Given the description of an element on the screen output the (x, y) to click on. 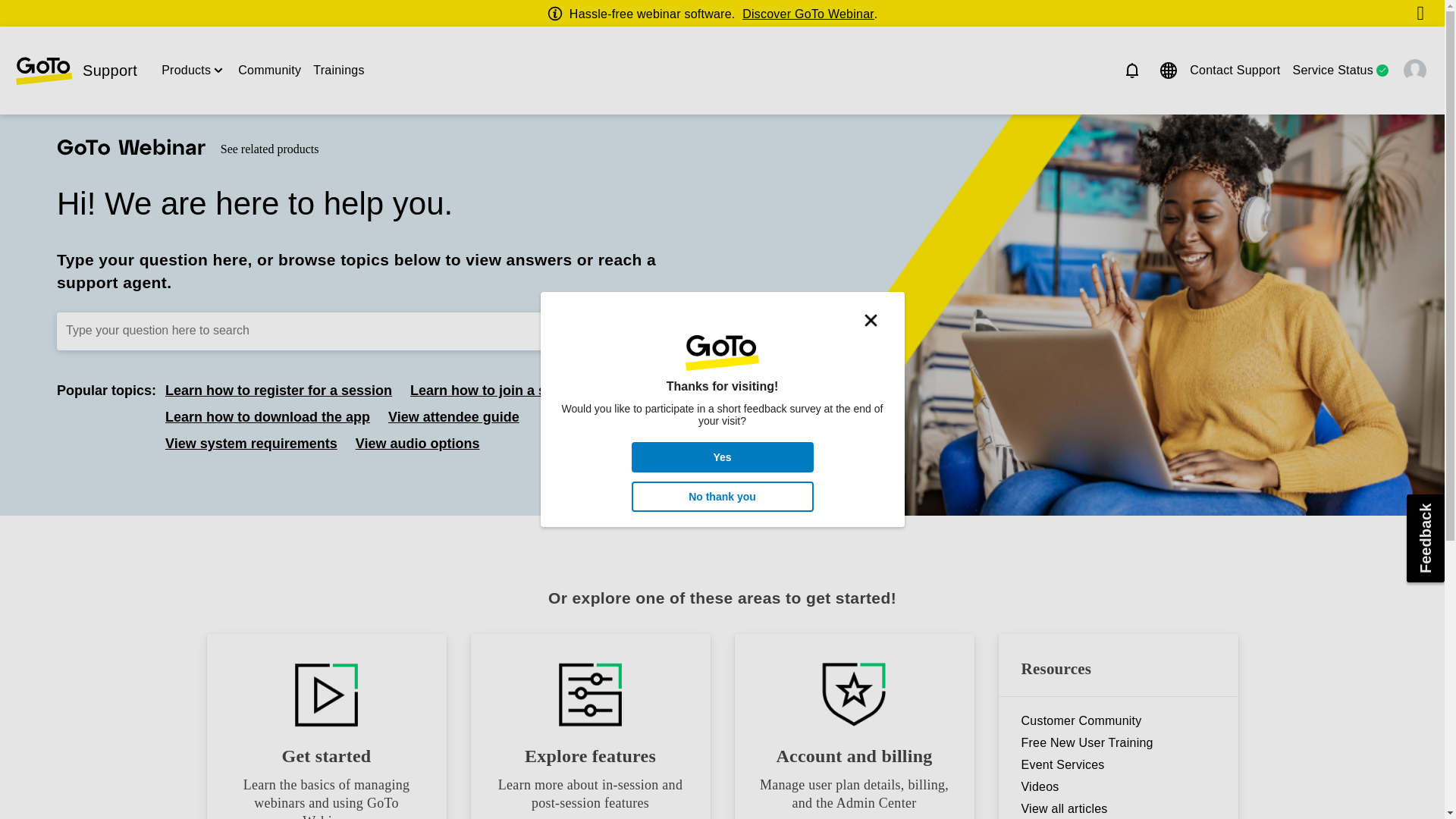
Info icon. (557, 13)
Products (186, 70)
Contact Support (1234, 70)
Trainings (338, 70)
Community (269, 70)
Discover GoTo Webinar (808, 13)
Products (186, 70)
Service Status (1332, 70)
Support (75, 70)
Support (75, 70)
